Given the description of an element on the screen output the (x, y) to click on. 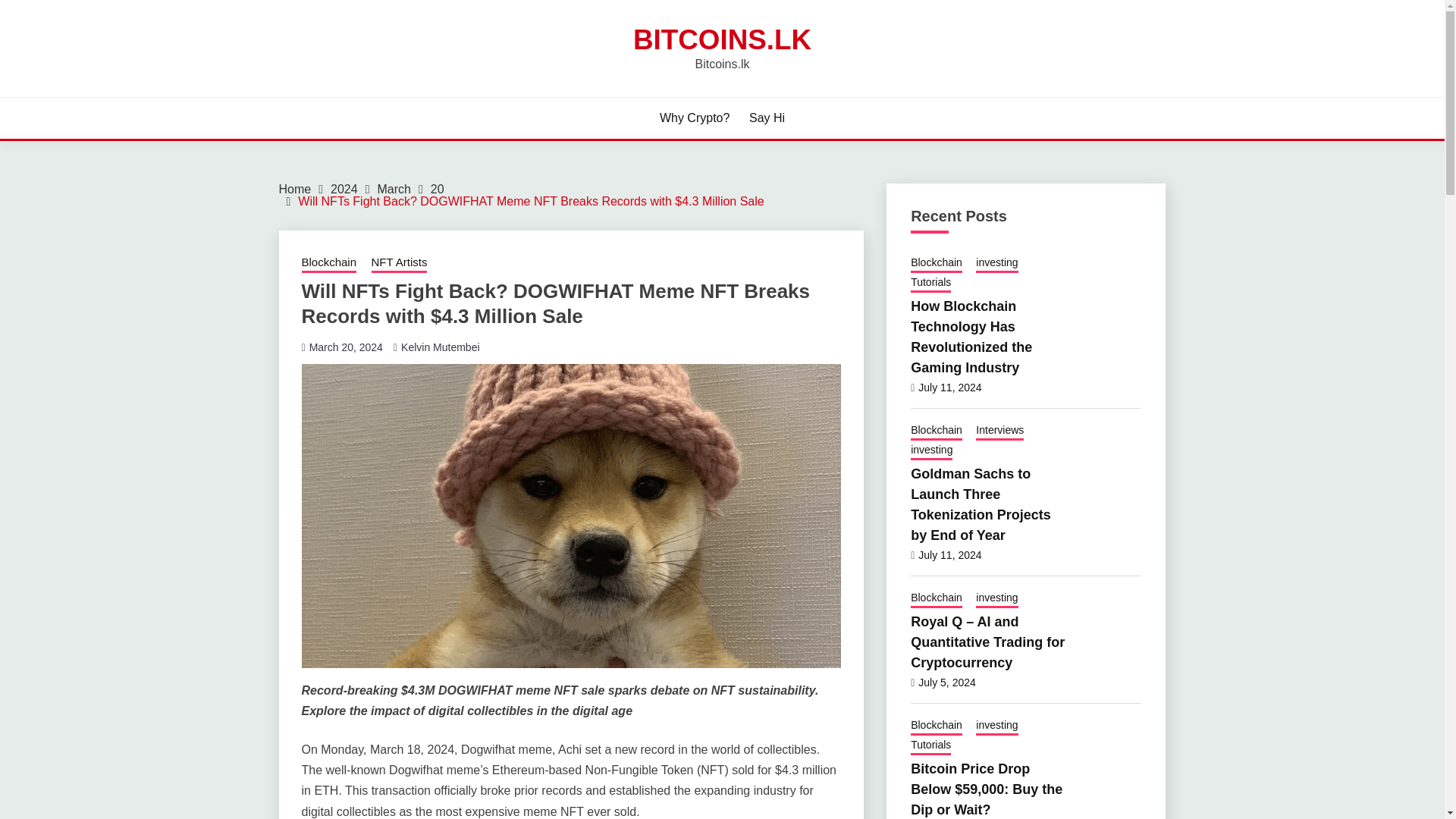
Say Hi (766, 117)
Home (295, 188)
NFT Artists (399, 263)
BITCOINS.LK (721, 39)
Kelvin Mutembei (440, 346)
20 (437, 188)
2024 (344, 188)
March (393, 188)
Blockchain (328, 263)
Why Crypto? (694, 117)
